Given the description of an element on the screen output the (x, y) to click on. 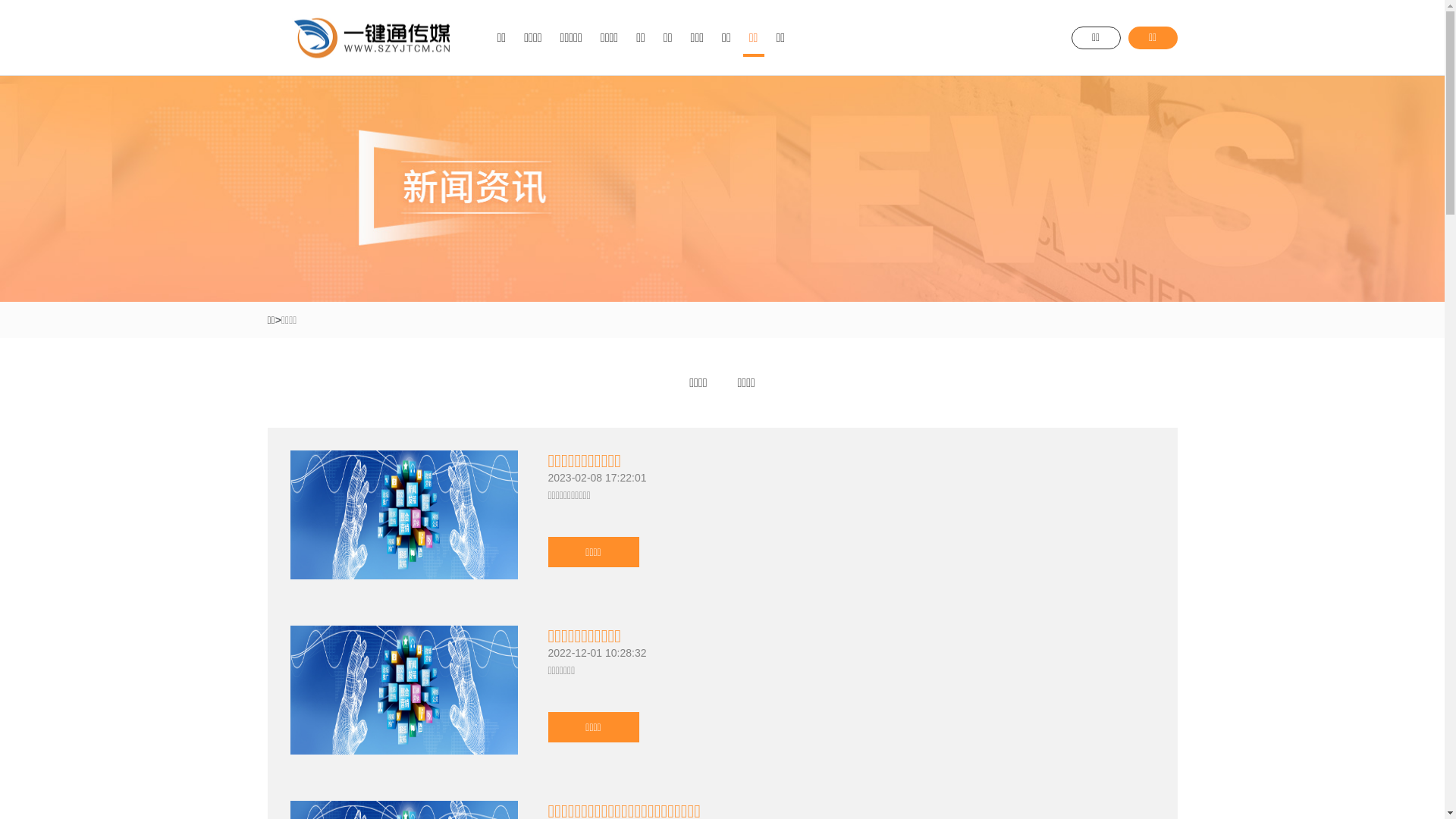
> Element type: text (278, 319)
